Given the description of an element on the screen output the (x, y) to click on. 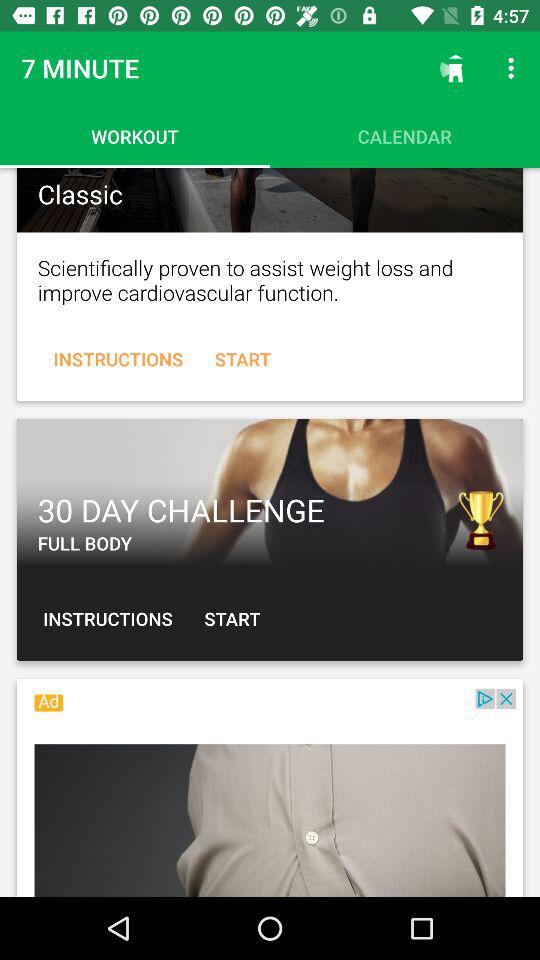
switch the advertisement about fitness (270, 793)
